Given the description of an element on the screen output the (x, y) to click on. 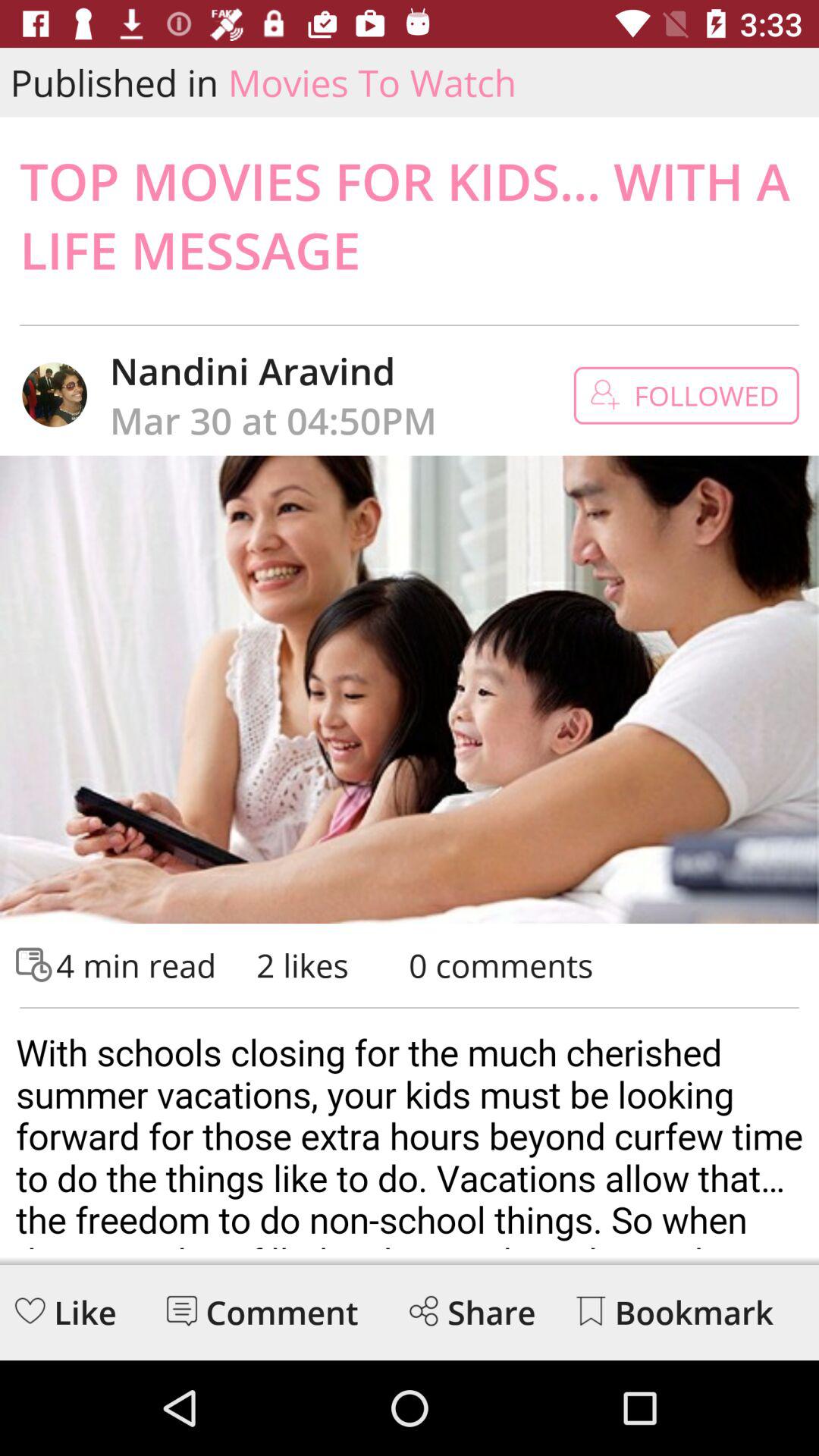
tap to expand (409, 1133)
